Given the description of an element on the screen output the (x, y) to click on. 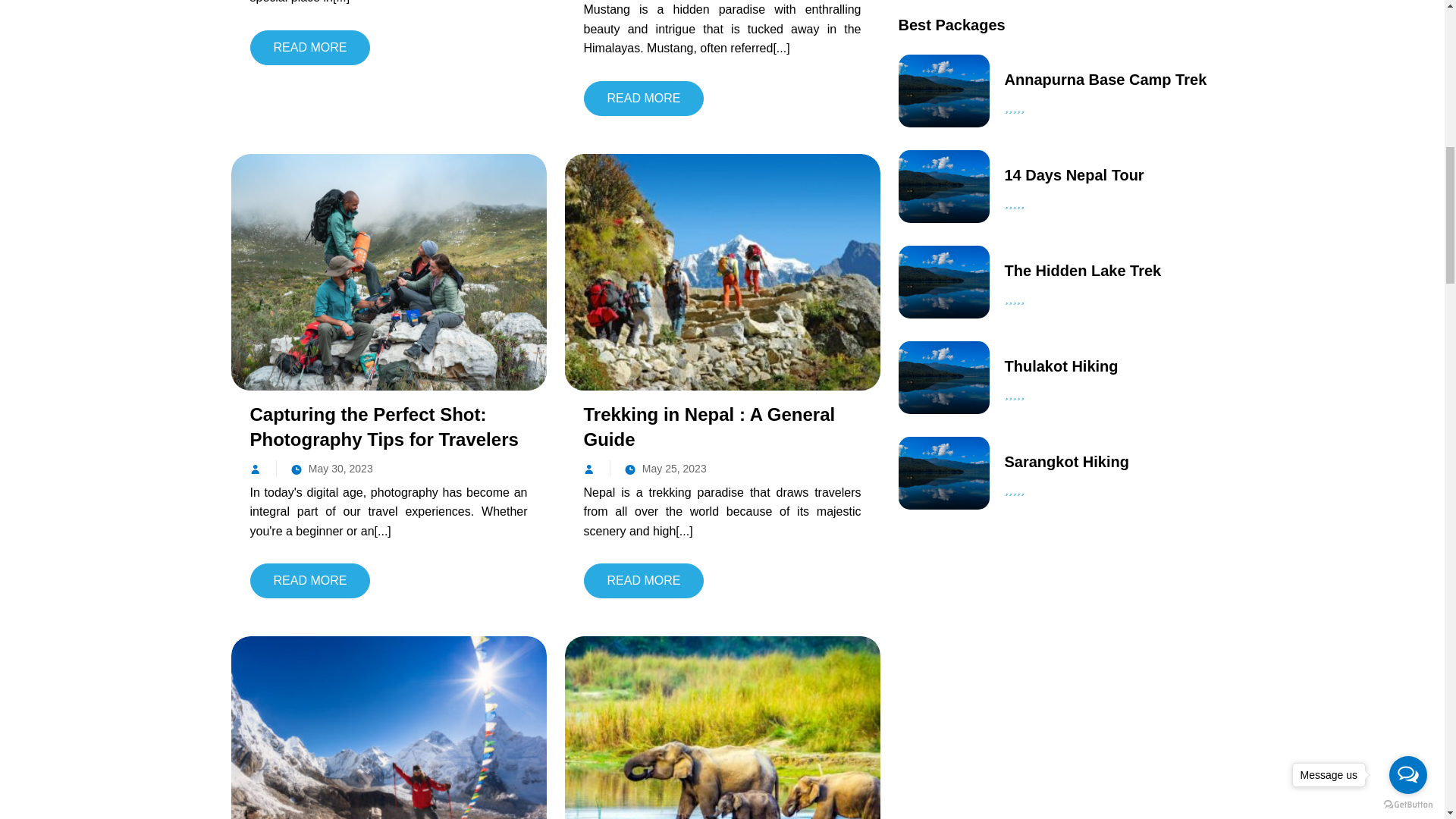
Why Choose Himalaya Sky Travel and Adventure (388, 753)
Wildlife tours in Nepal (721, 753)
Capturing the Perfect Shot: Photography Tips for Travelers (388, 270)
Trekking in Nepal : A General Guide (721, 270)
